Given the description of an element on the screen output the (x, y) to click on. 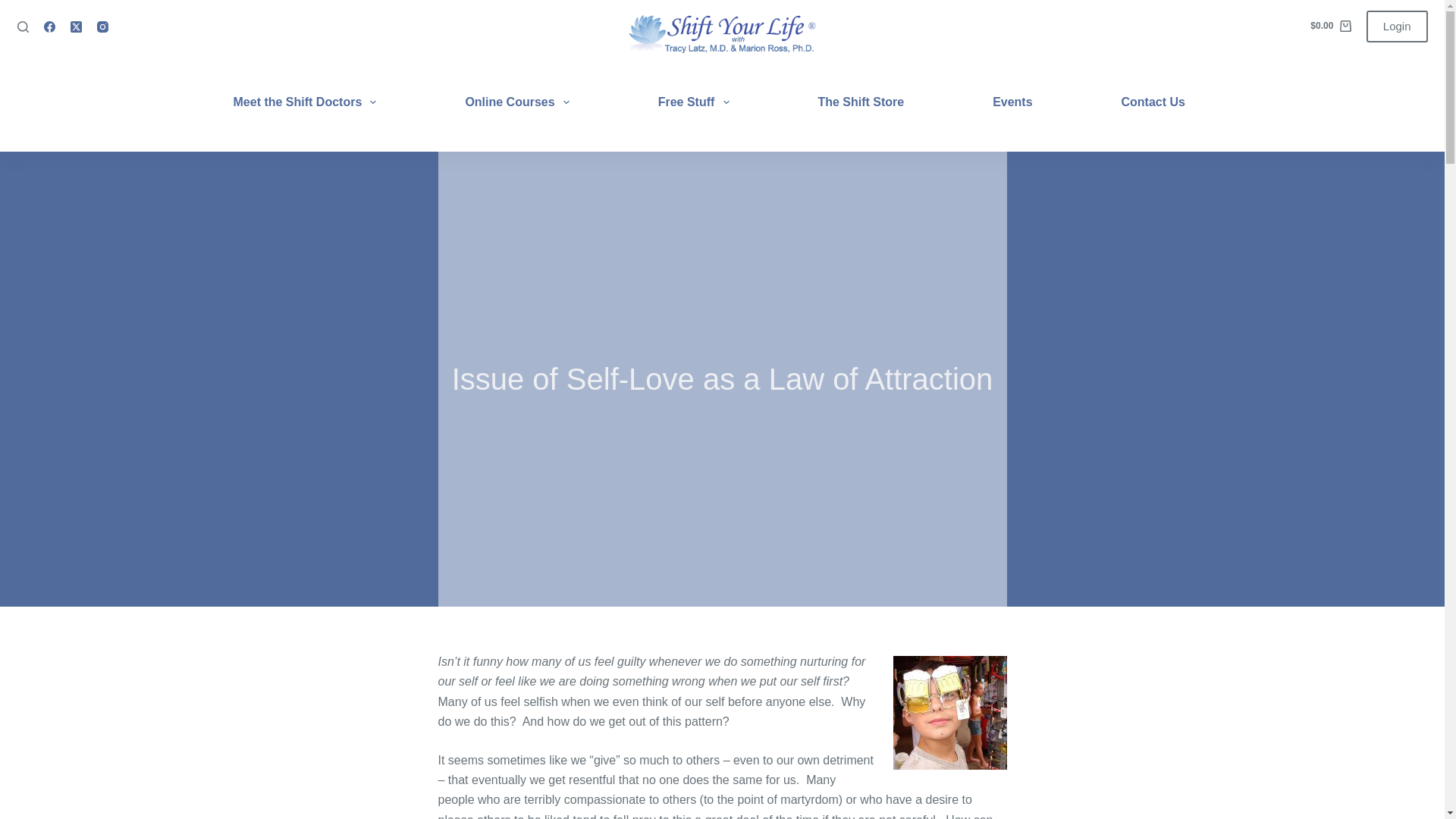
beerglasses (950, 712)
Skip to content (15, 7)
Issue of Self-Love as a Law of Attraction (722, 378)
Online Courses (517, 102)
Login (1397, 26)
Meet the Shift Doctors (313, 102)
